Given the description of an element on the screen output the (x, y) to click on. 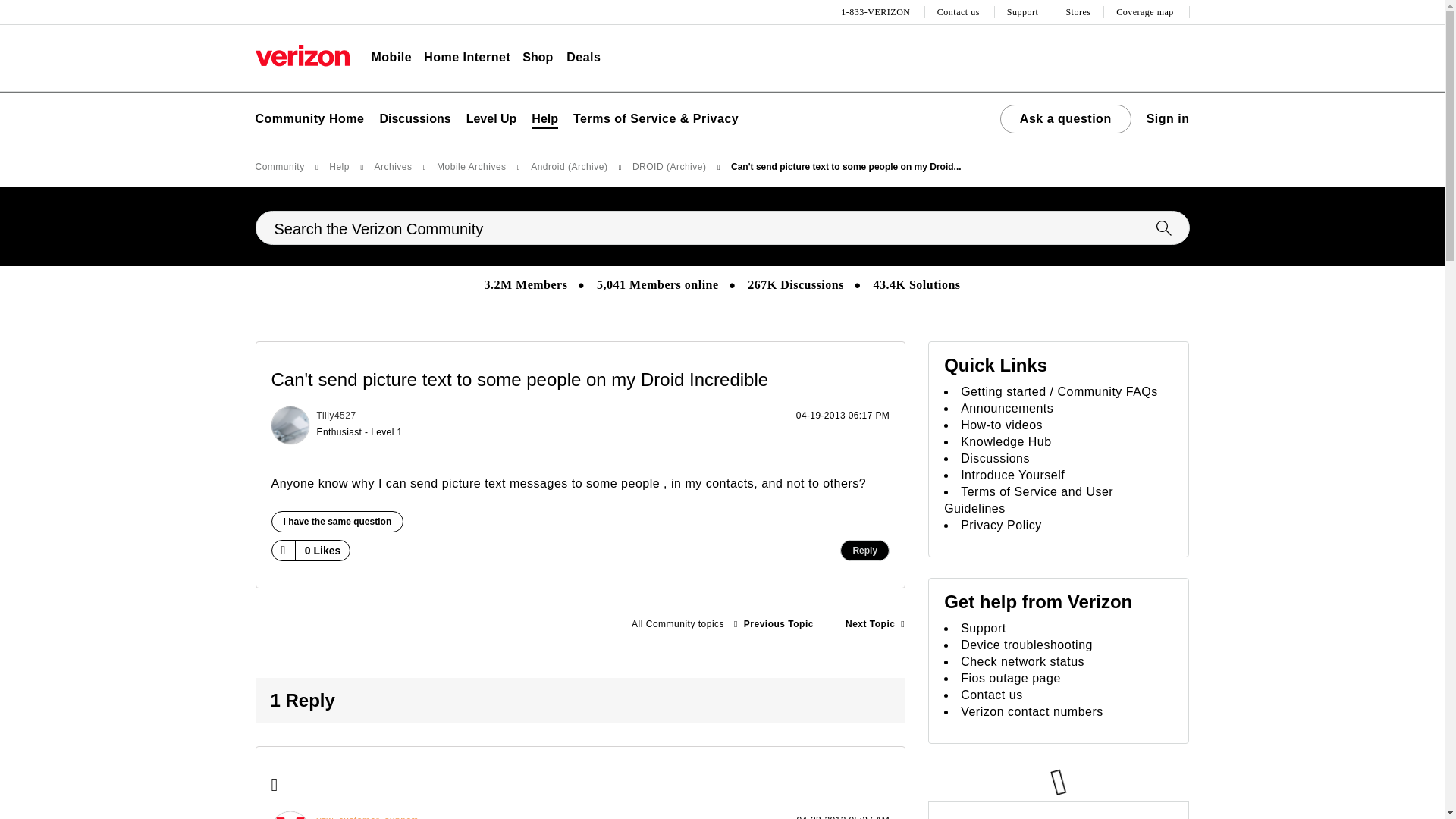
Mobile (391, 57)
Posted on (668, 425)
Home Internet (467, 57)
Stores (1078, 12)
They screw us again... (773, 624)
Coverage map (1146, 12)
Click here if you had a similar experience (337, 521)
The total number of likes this post has received. (322, 550)
Songs used for Ringtones (874, 624)
Support (1024, 12)
